Given the description of an element on the screen output the (x, y) to click on. 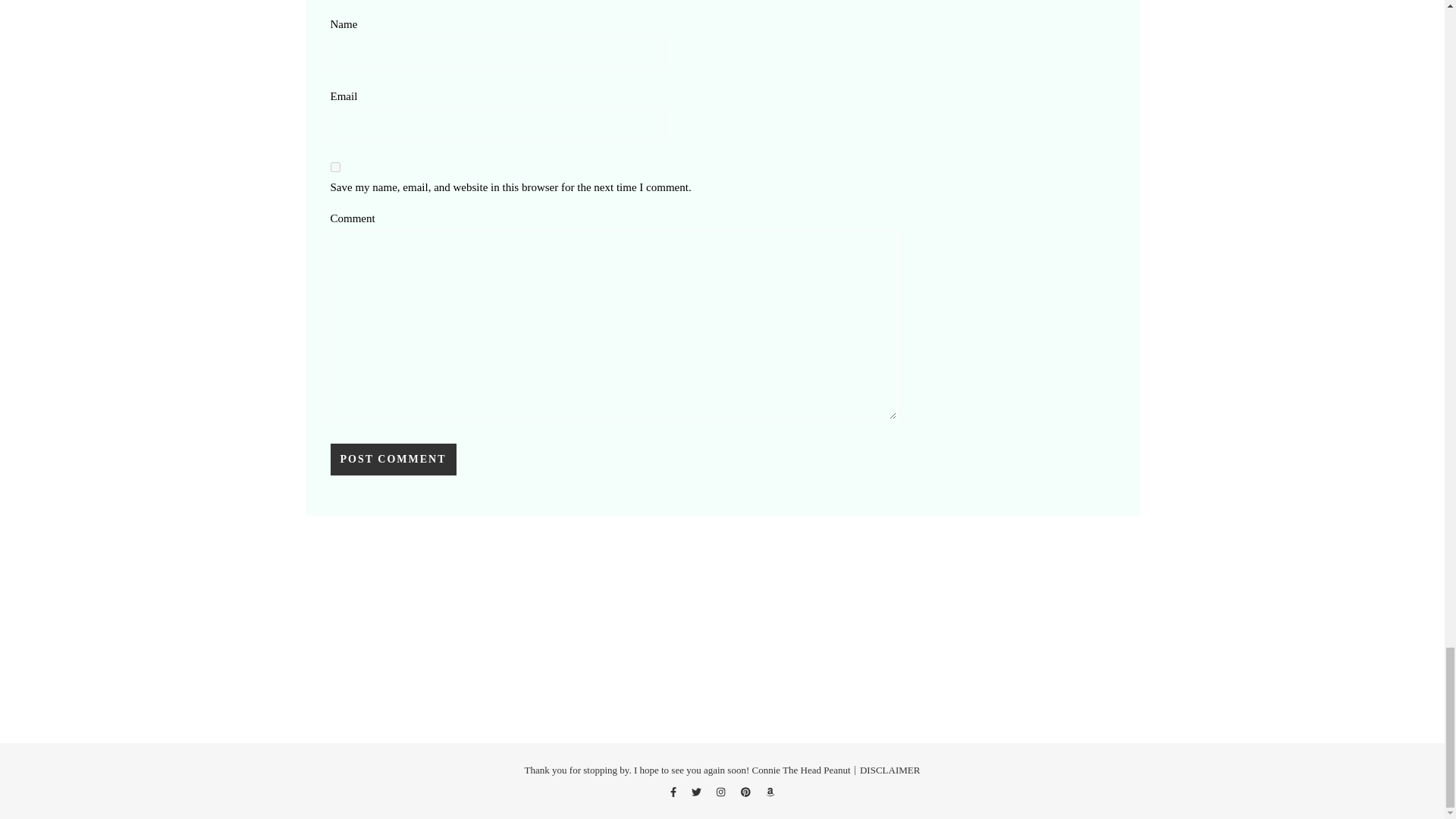
yes (335, 166)
Post Comment (393, 459)
